Given the description of an element on the screen output the (x, y) to click on. 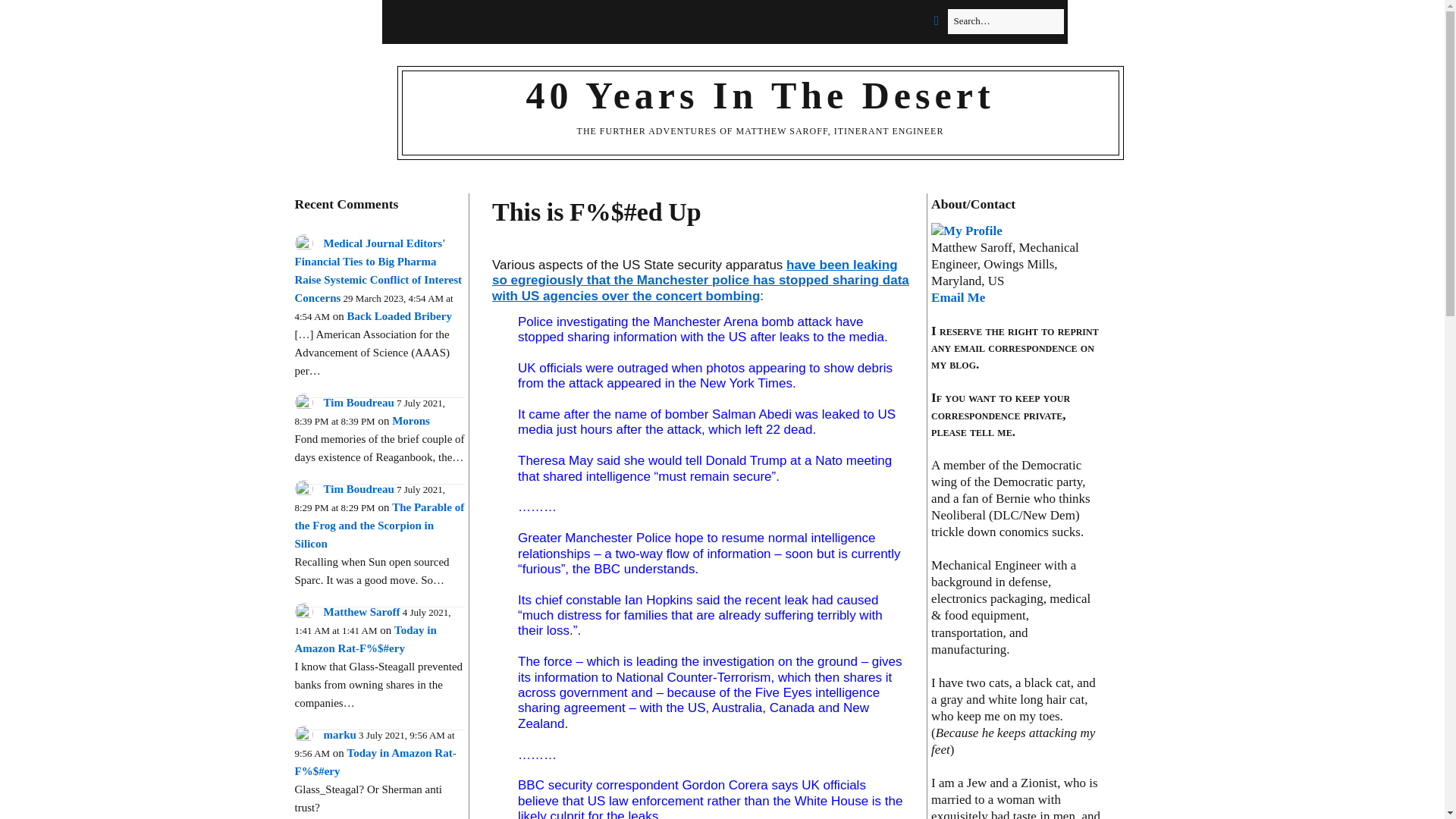
marku (339, 734)
Tim Boudreau (358, 489)
Tim Boudreau (358, 402)
Back Loaded Bribery (399, 316)
Morons (410, 420)
The Parable of the Frog and the Scorpion in Silicon (379, 525)
My Profile (967, 230)
Matthew Saroff (360, 612)
40 Years In The Desert (759, 95)
